Given the description of an element on the screen output the (x, y) to click on. 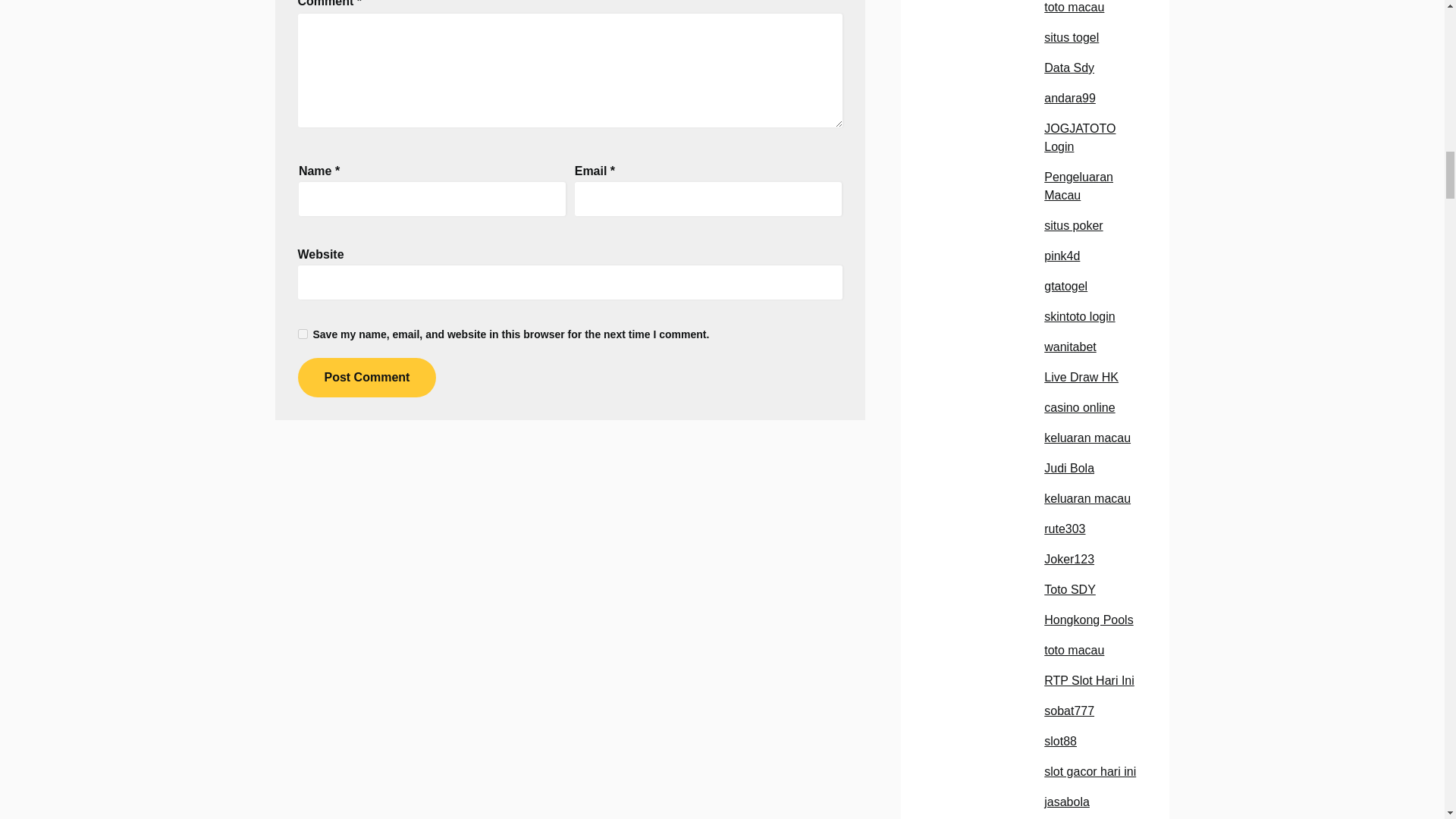
Post Comment (366, 377)
Post Comment (366, 377)
yes (302, 334)
